Given the description of an element on the screen output the (x, y) to click on. 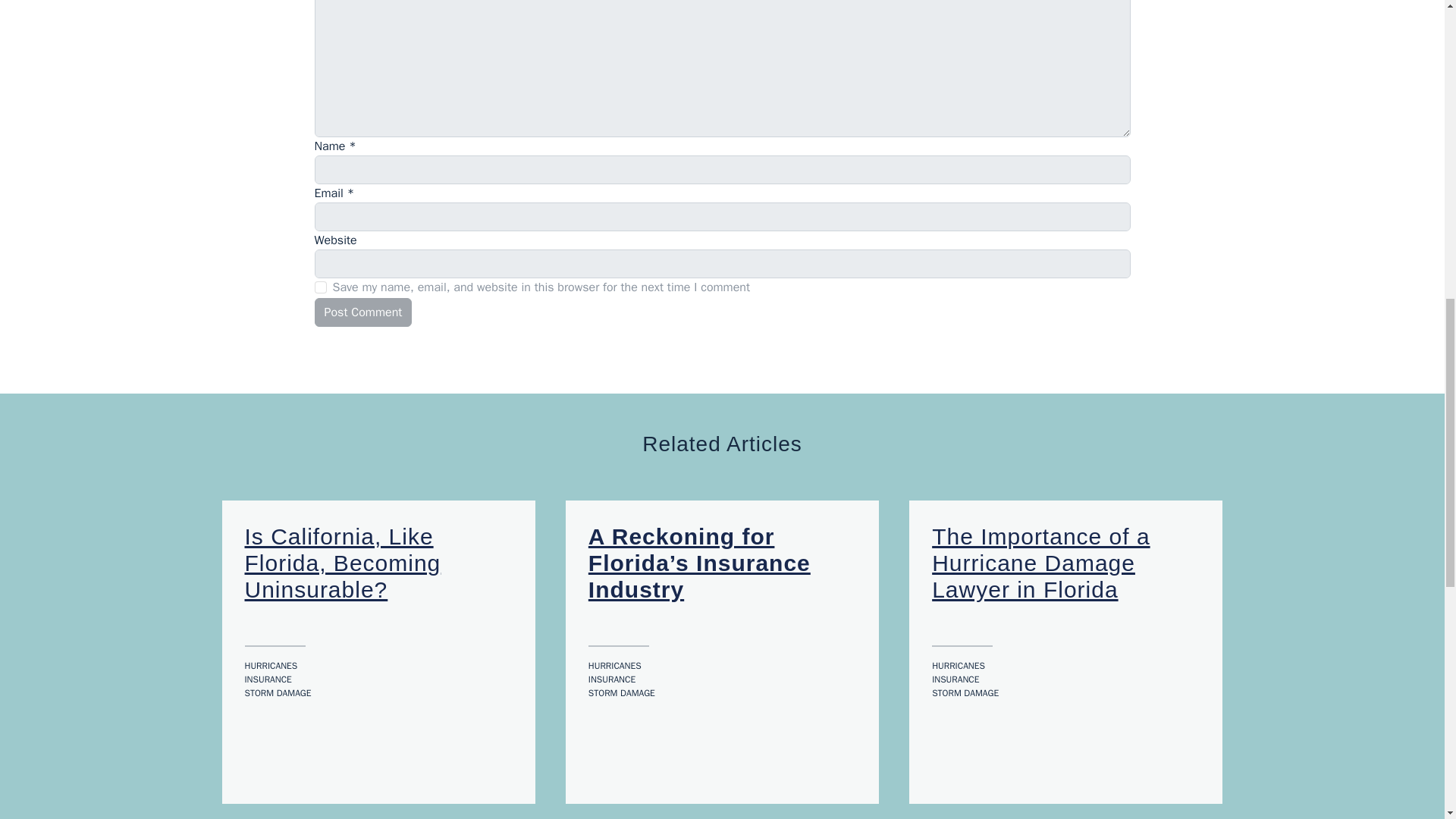
Is California, Like Florida, Becoming Uninsurable? (342, 562)
yes (320, 287)
The Importance of a Hurricane Damage Lawyer in Florida (1040, 562)
Is California, Like Florida, Becoming Uninsurable? (342, 562)
Post Comment (363, 312)
The Importance of a Hurricane Damage Lawyer in Florida (1040, 562)
Post Comment (363, 312)
